Given the description of an element on the screen output the (x, y) to click on. 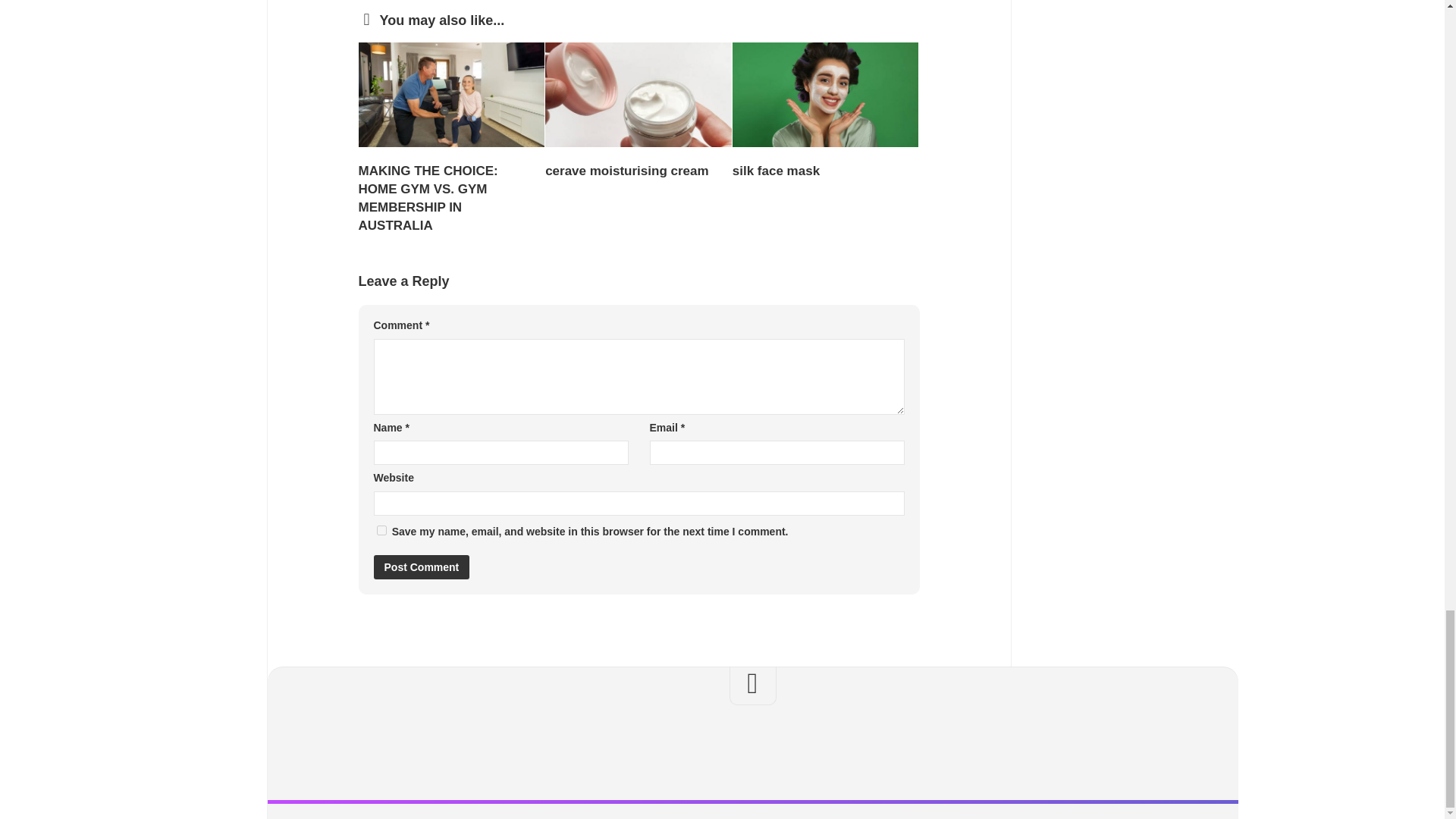
Post Comment (420, 567)
cerave moisturising cream (625, 170)
Post Comment (420, 567)
yes (380, 530)
silk face mask (775, 170)
MAKING THE CHOICE: HOME GYM VS. GYM MEMBERSHIP IN AUSTRALIA (427, 197)
